Given the description of an element on the screen output the (x, y) to click on. 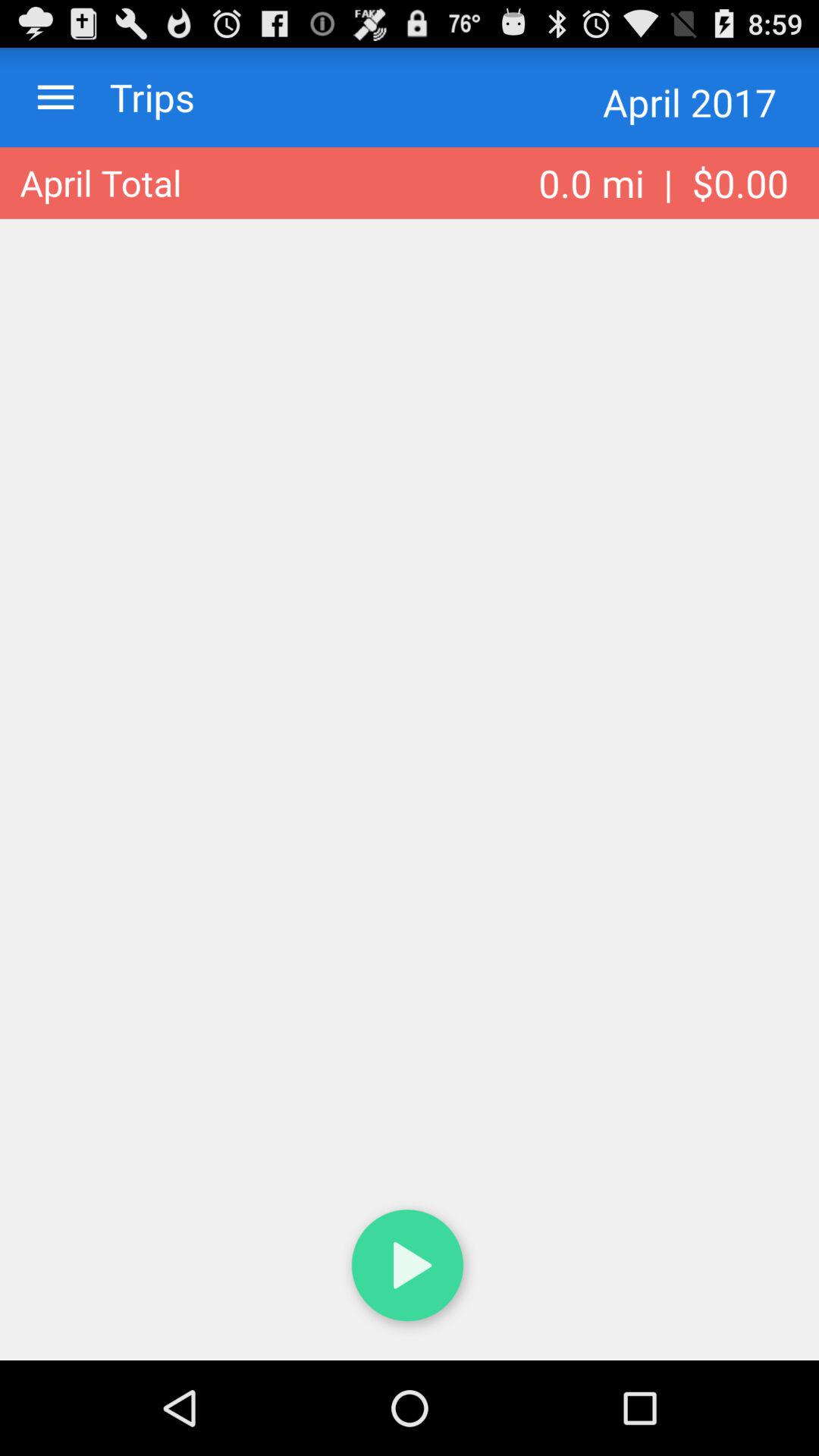
select app next to the april total icon (663, 182)
